Given the description of an element on the screen output the (x, y) to click on. 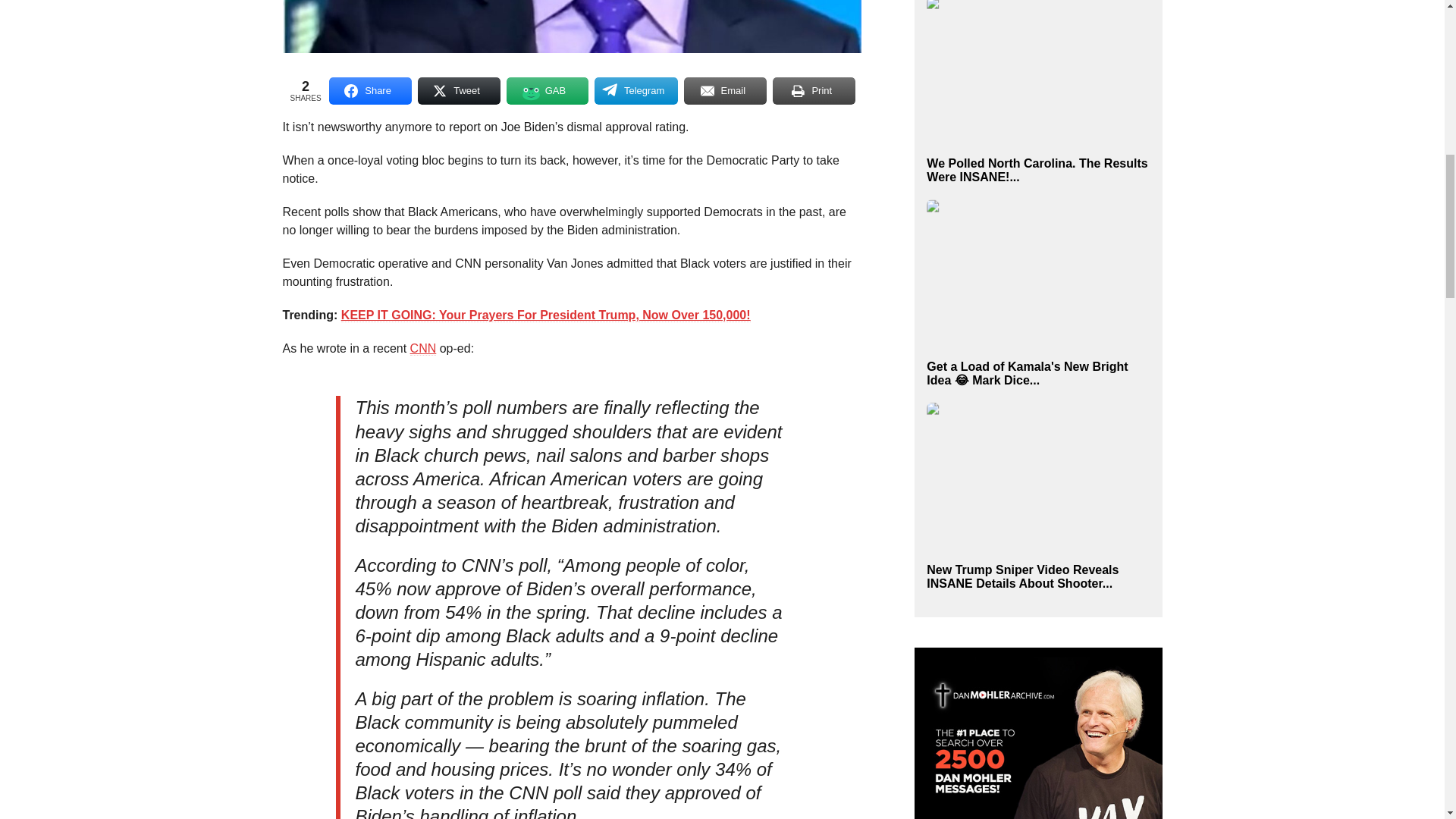
Share on Tweet (458, 90)
Telegram (635, 90)
Share on Print (814, 90)
Share on Share (370, 90)
Share on Email (725, 90)
CNN (423, 348)
Share (370, 90)
Print (814, 90)
Share on GAB (547, 90)
Email (725, 90)
